Given the description of an element on the screen output the (x, y) to click on. 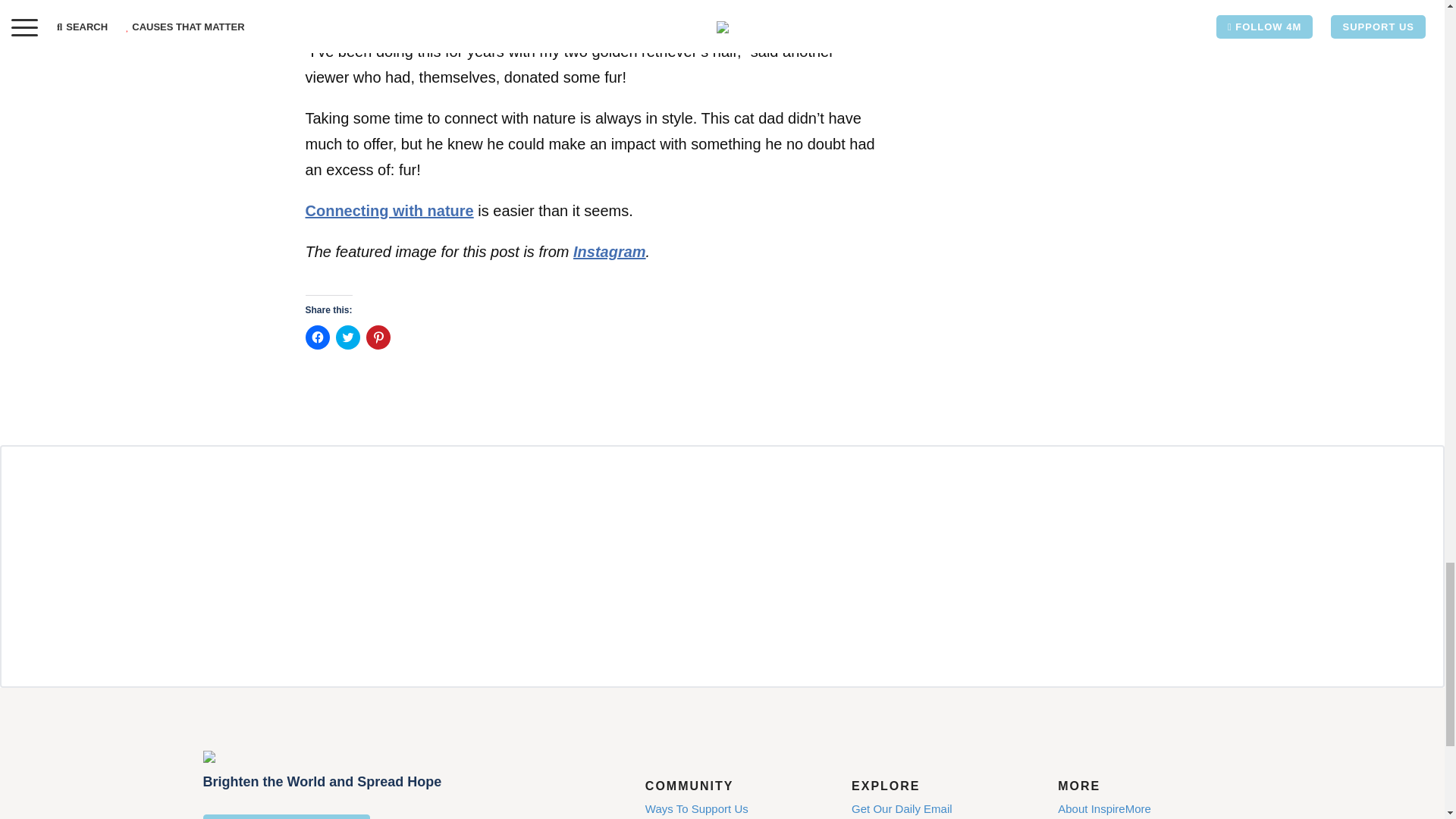
Instagram (609, 251)
Click to share on Facebook (316, 337)
Click to share on Pinterest (377, 337)
Click to share on Twitter (346, 337)
Connecting with nature (388, 210)
